Given the description of an element on the screen output the (x, y) to click on. 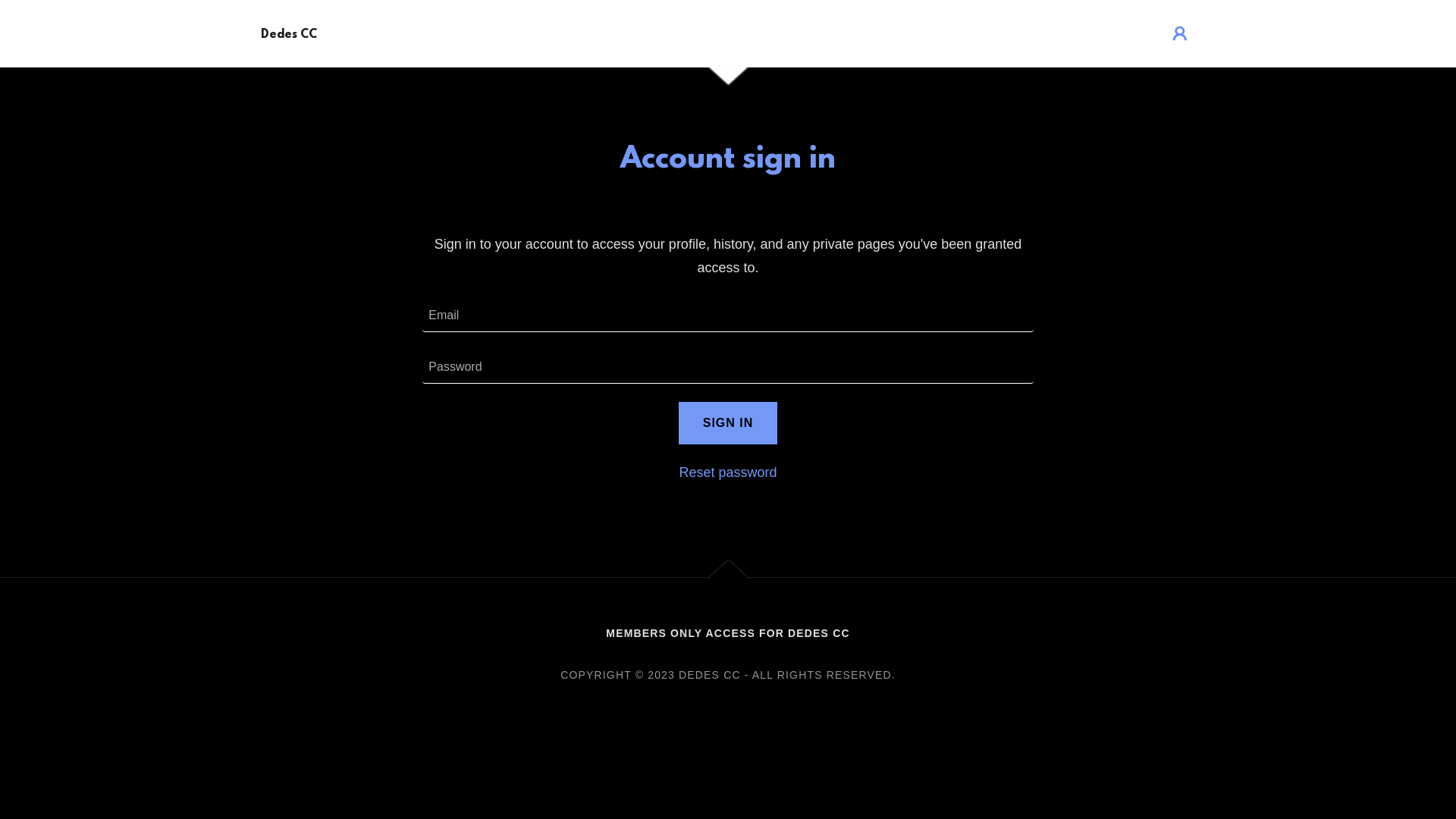
Dedes CC Element type: text (288, 32)
Reset password Element type: text (727, 472)
SIGN IN Element type: text (728, 422)
